Given the description of an element on the screen output the (x, y) to click on. 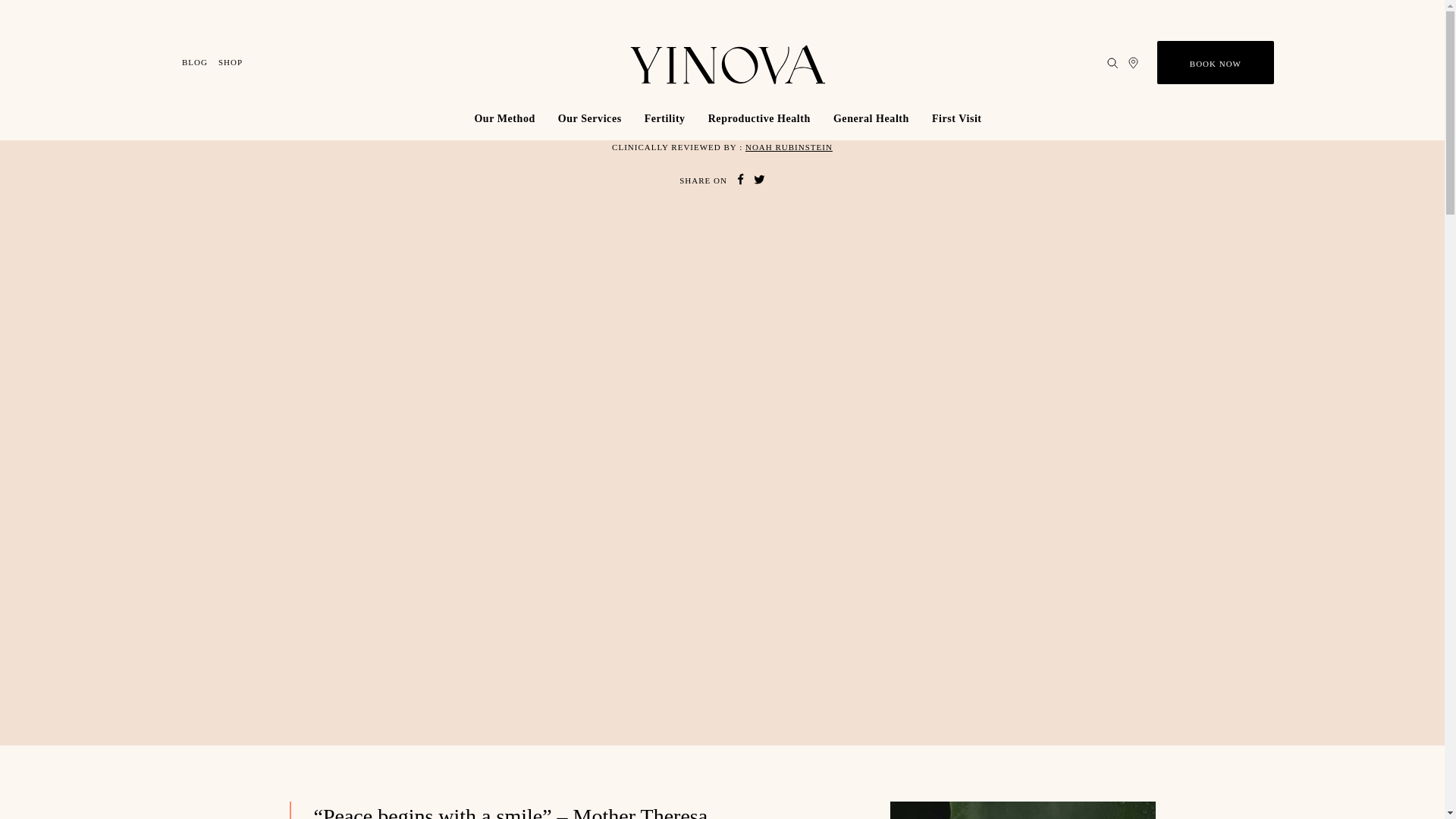
First Visit (956, 118)
Wellness (738, 53)
The Yinova Center (727, 62)
BLOG (195, 62)
The Yinova Center (727, 62)
General Health (871, 118)
The Yinova Center (727, 63)
SHOP (230, 62)
Our Method (504, 118)
Our Services (590, 118)
Reproductive Health (759, 118)
Fertility (665, 118)
